Given the description of an element on the screen output the (x, y) to click on. 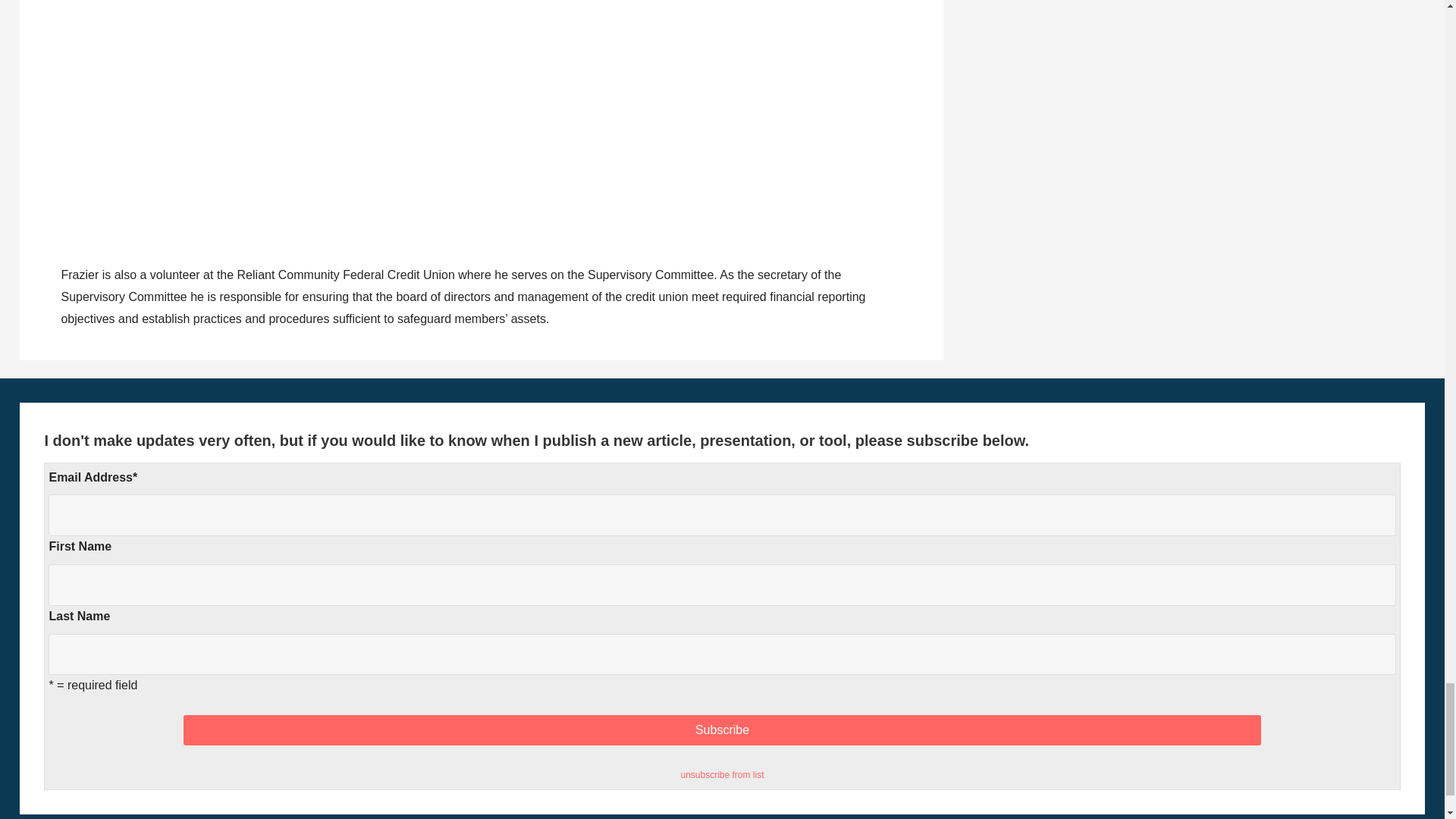
Subscribe (721, 729)
unsubscribe from list (720, 774)
Subscribe (721, 729)
